Given the description of an element on the screen output the (x, y) to click on. 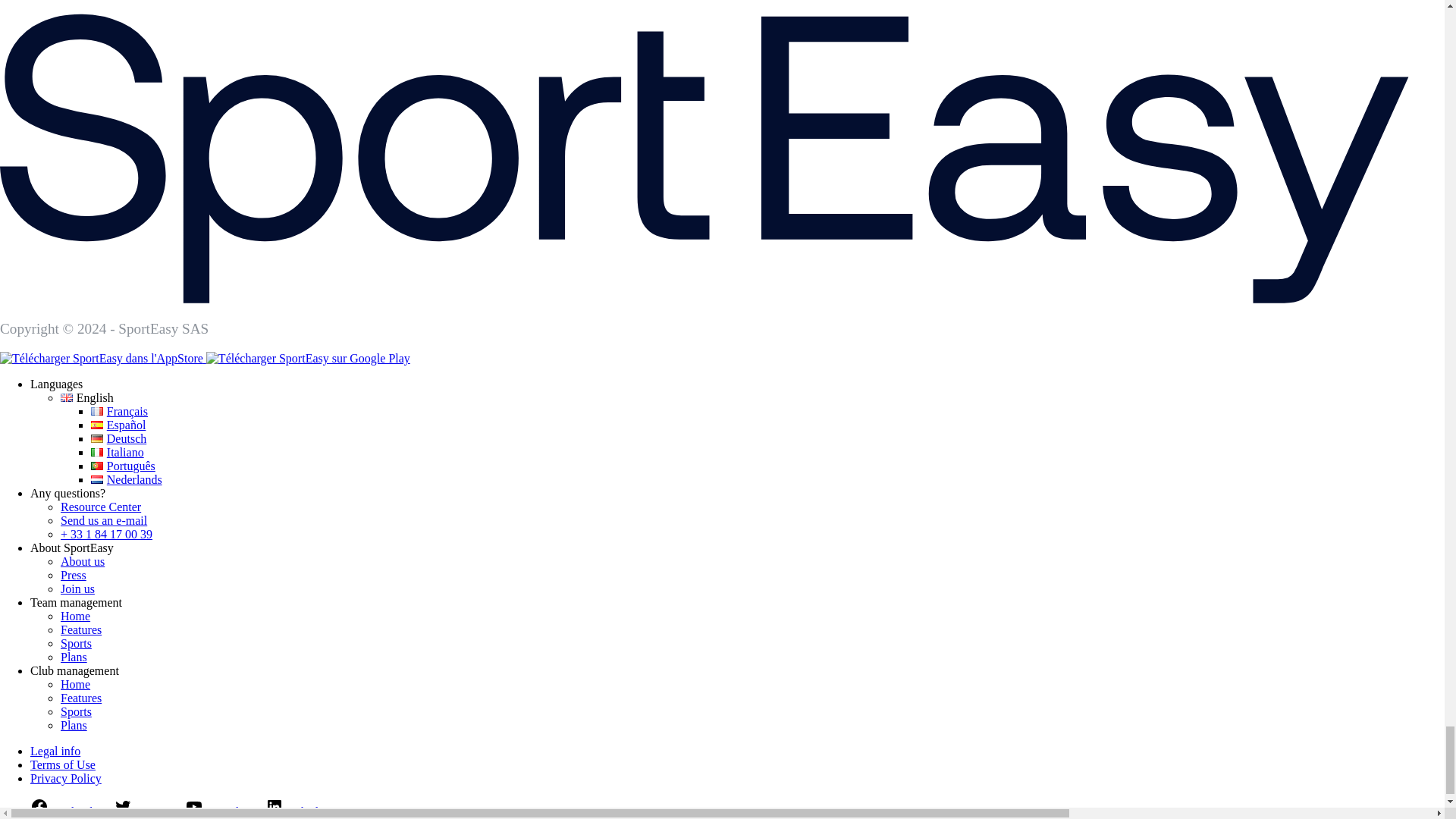
About us (82, 561)
Resource Center (101, 506)
Join us (77, 588)
Deutsch (118, 438)
Nederlands (125, 479)
Italiano (117, 451)
Send us an e-mail (104, 520)
Press (73, 574)
